Given the description of an element on the screen output the (x, y) to click on. 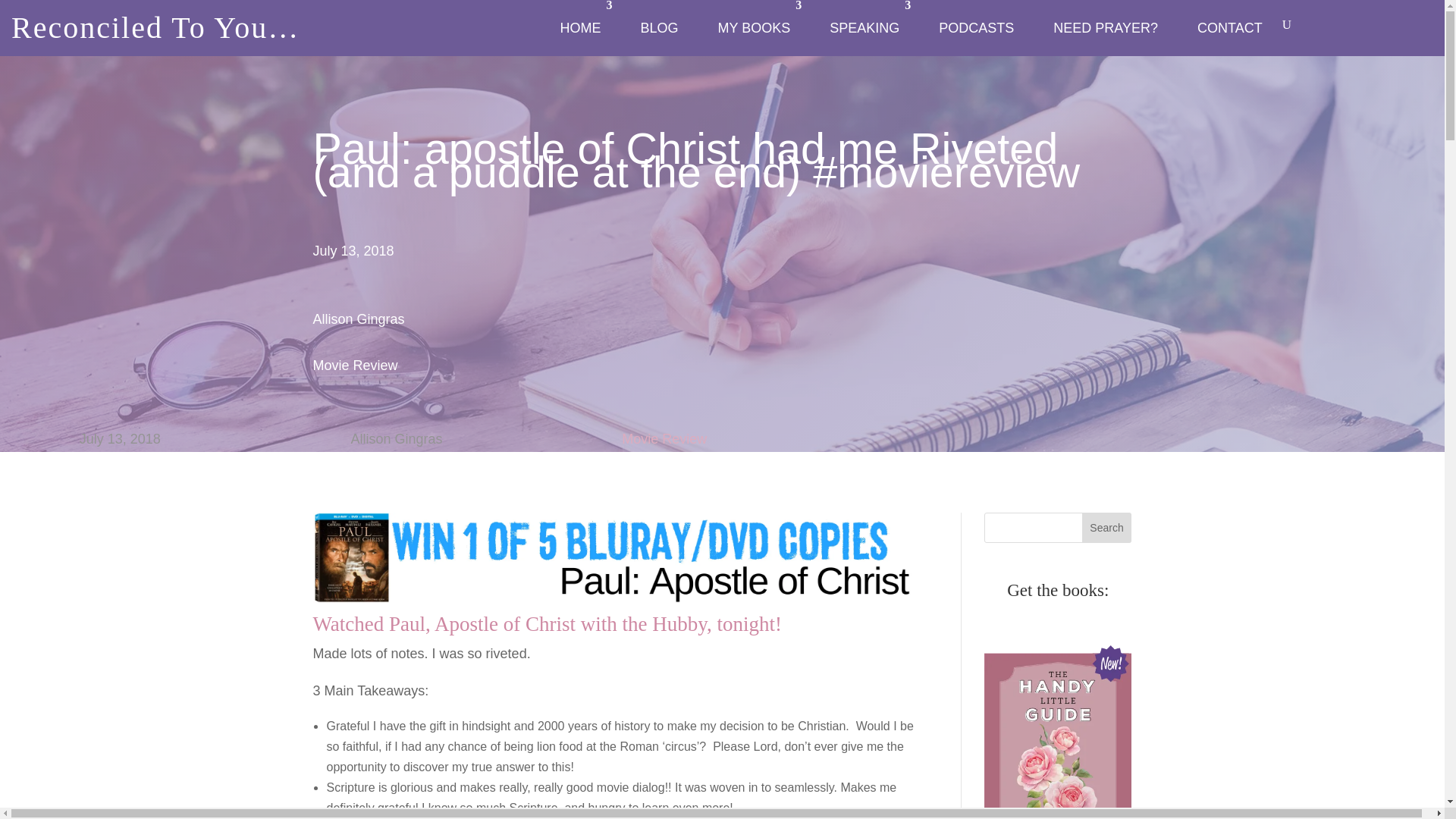
Paul, Apostle of Christ (481, 623)
BLOG (658, 28)
PODCASTS (976, 28)
Search (1106, 527)
CONTACT (1230, 28)
HOME (579, 28)
SPEAKING (864, 28)
NEED PRAYER? (1105, 28)
Movie Review (355, 365)
Movie Review (663, 438)
